Given the description of an element on the screen output the (x, y) to click on. 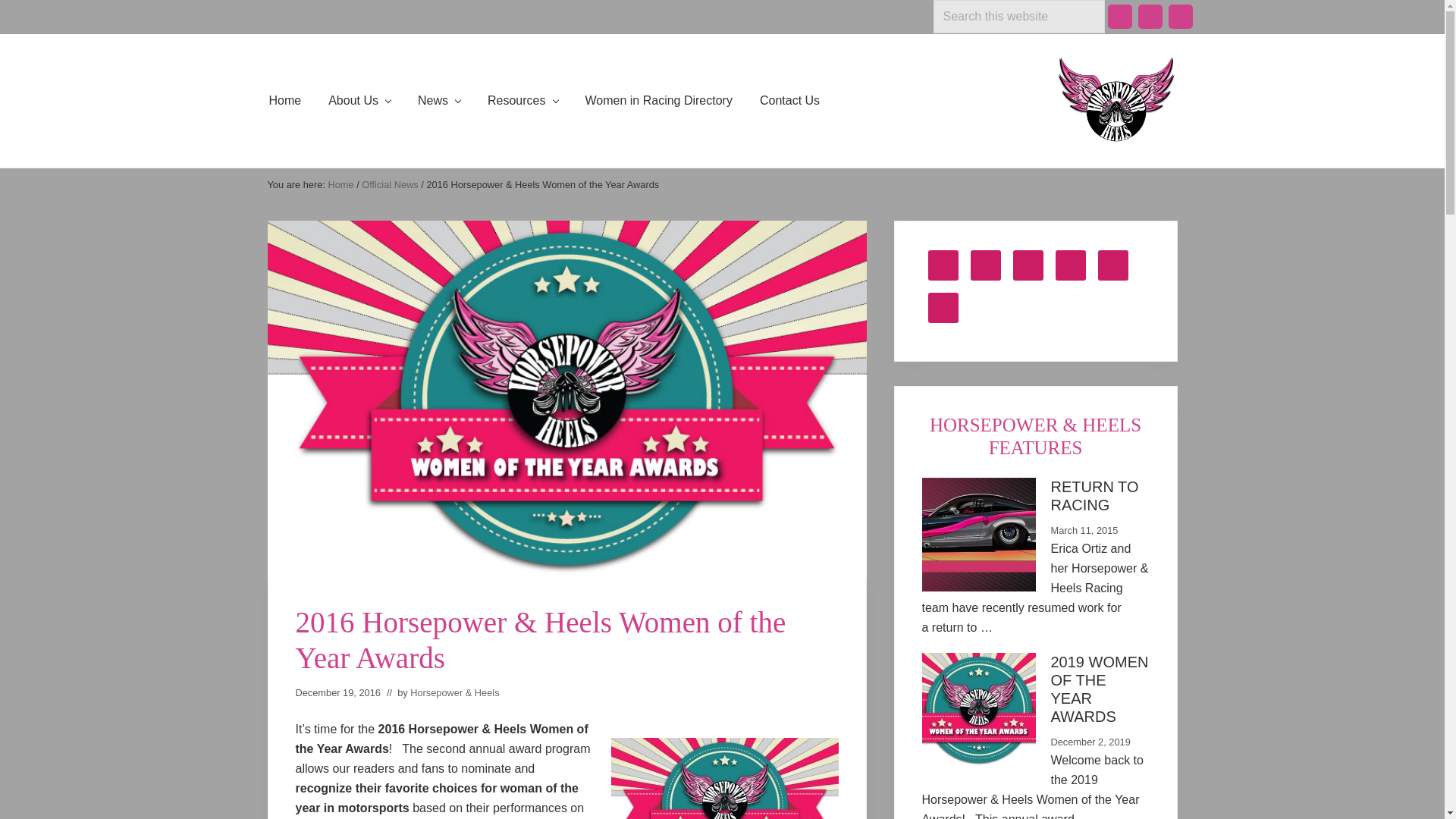
Facebook (1119, 16)
LinkedIn (1149, 16)
LinkedIn (1149, 16)
Facebook (1118, 16)
About Us (359, 100)
Home (284, 100)
RSS (1179, 16)
RSS (1180, 16)
